Given the description of an element on the screen output the (x, y) to click on. 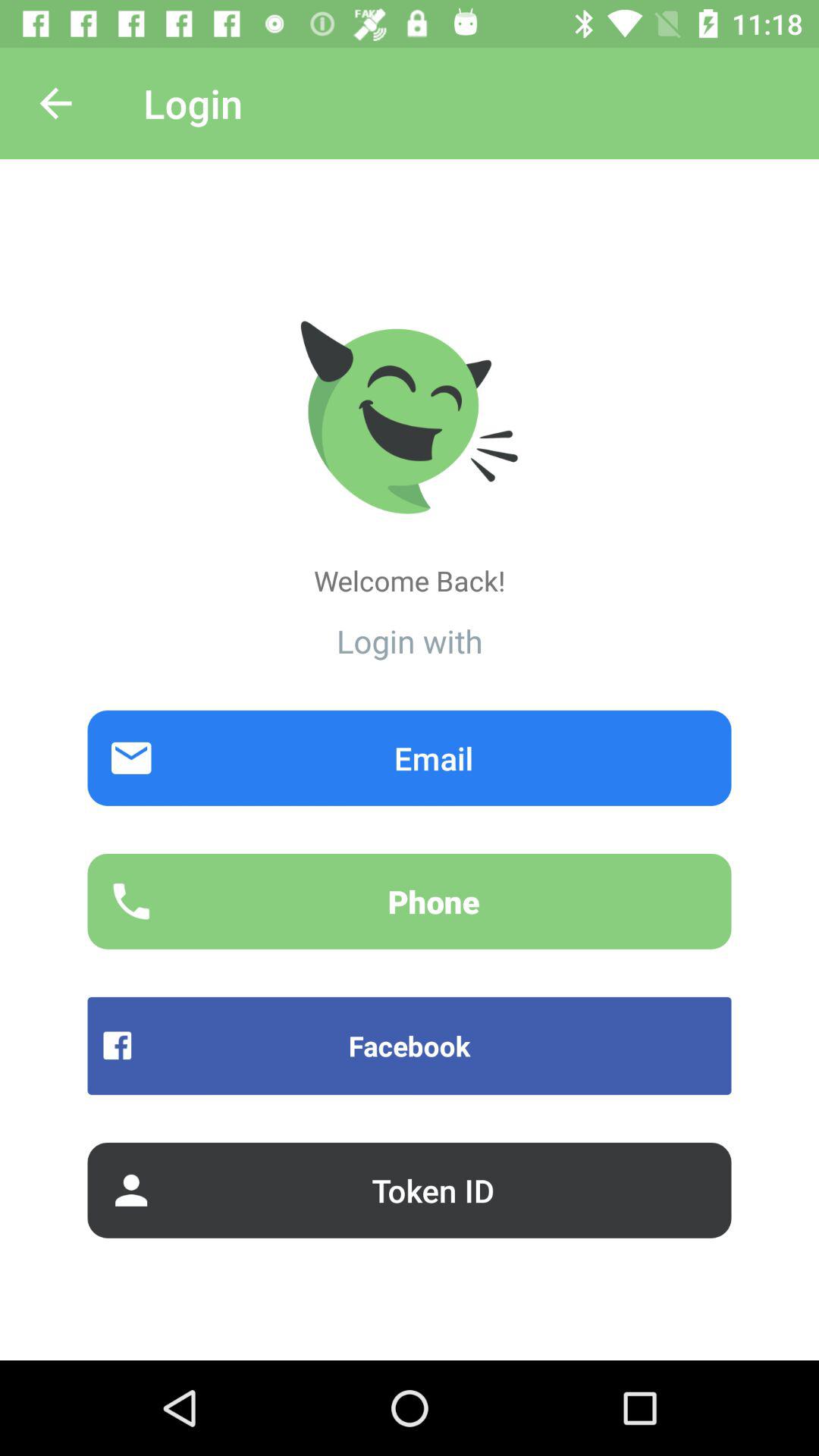
turn on the icon below phone item (409, 1045)
